Given the description of an element on the screen output the (x, y) to click on. 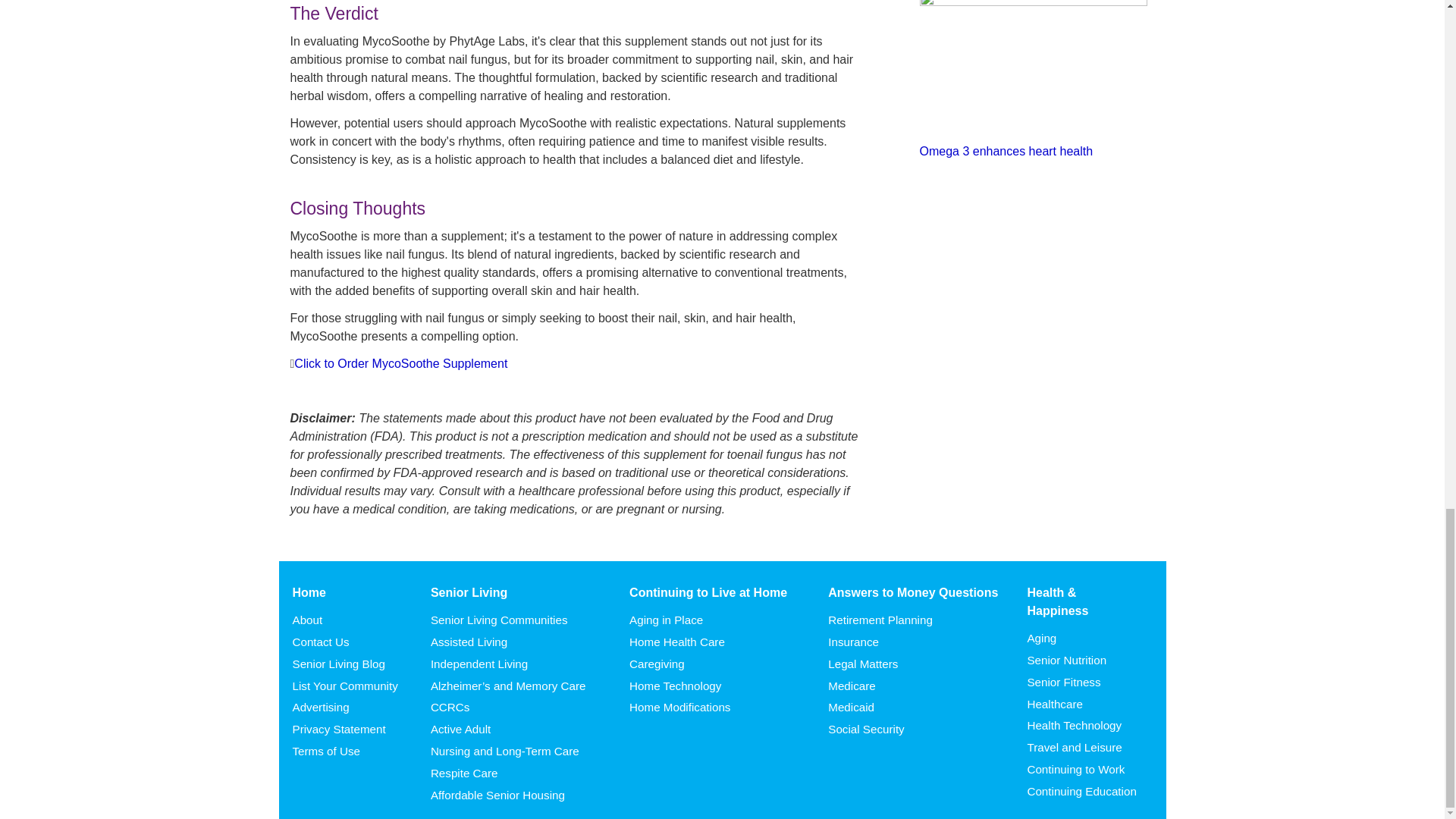
Click to Order MycoSoothe Supplement (400, 363)
